Given the description of an element on the screen output the (x, y) to click on. 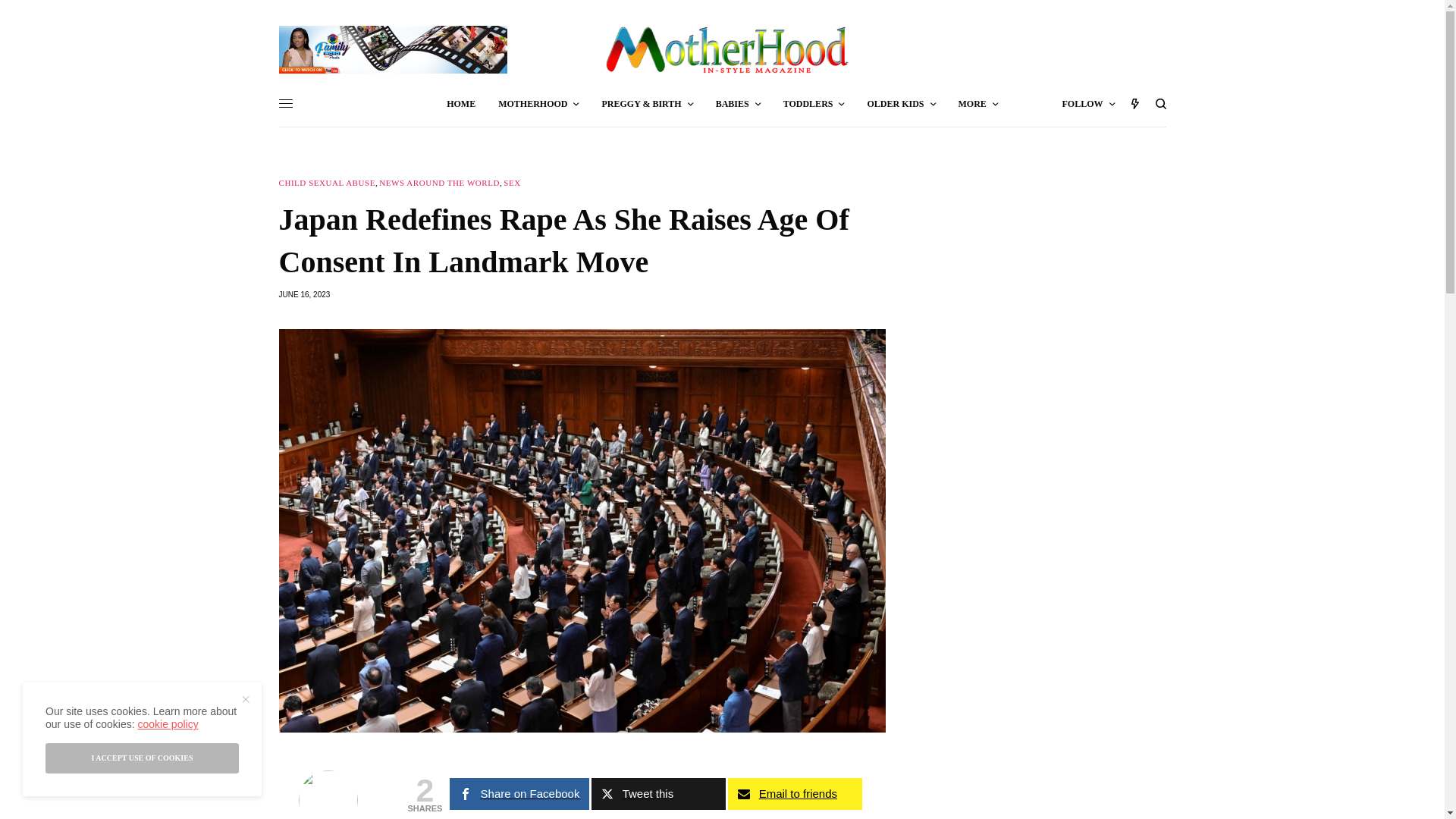
MOTHERHOOD (537, 103)
Motherhood In-Style Magazine (720, 49)
HOME (461, 103)
